Given the description of an element on the screen output the (x, y) to click on. 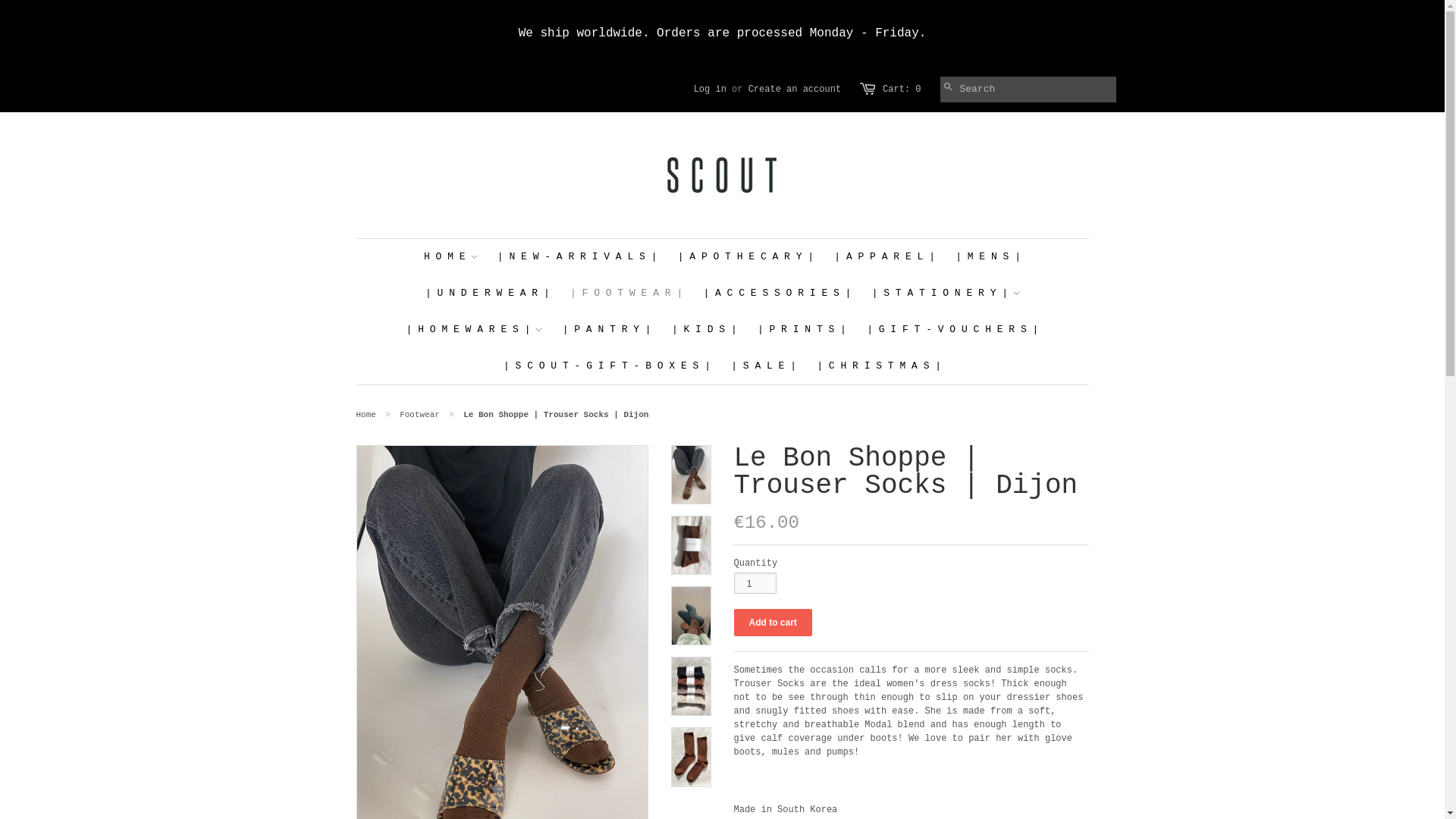
Add to cart (772, 622)
Log in (710, 89)
Shopping Cart (901, 89)
H O M E (446, 257)
Add to cart (772, 622)
Cart: 0 (901, 89)
Home (365, 414)
Create an account (794, 89)
Scout Dublin (365, 414)
Footwear (418, 414)
1 (754, 582)
Footwear (418, 414)
